Given the description of an element on the screen output the (x, y) to click on. 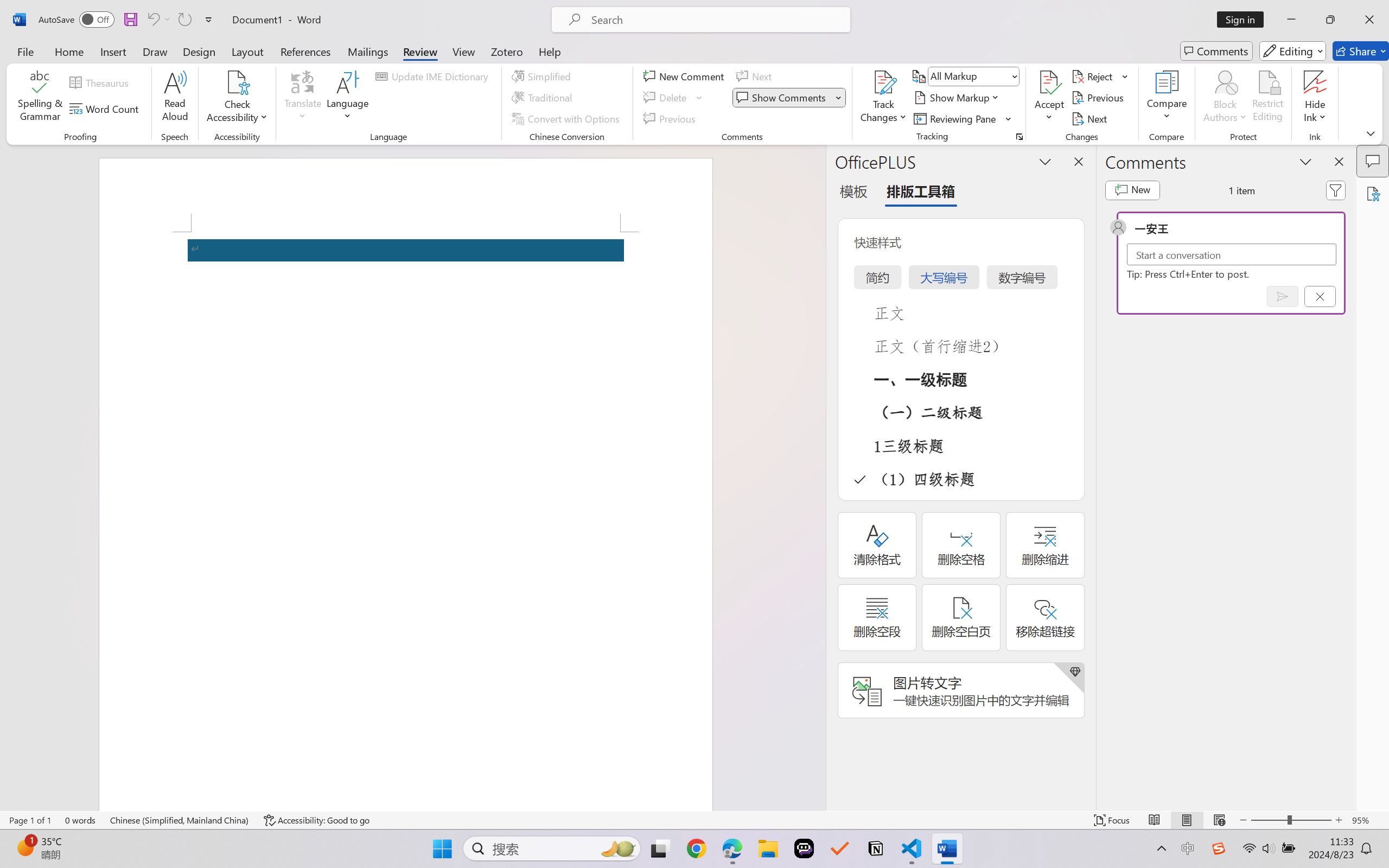
Show Markup (957, 97)
Post comment (Ctrl + Enter) (1282, 296)
Next (1090, 118)
